Given the description of an element on the screen output the (x, y) to click on. 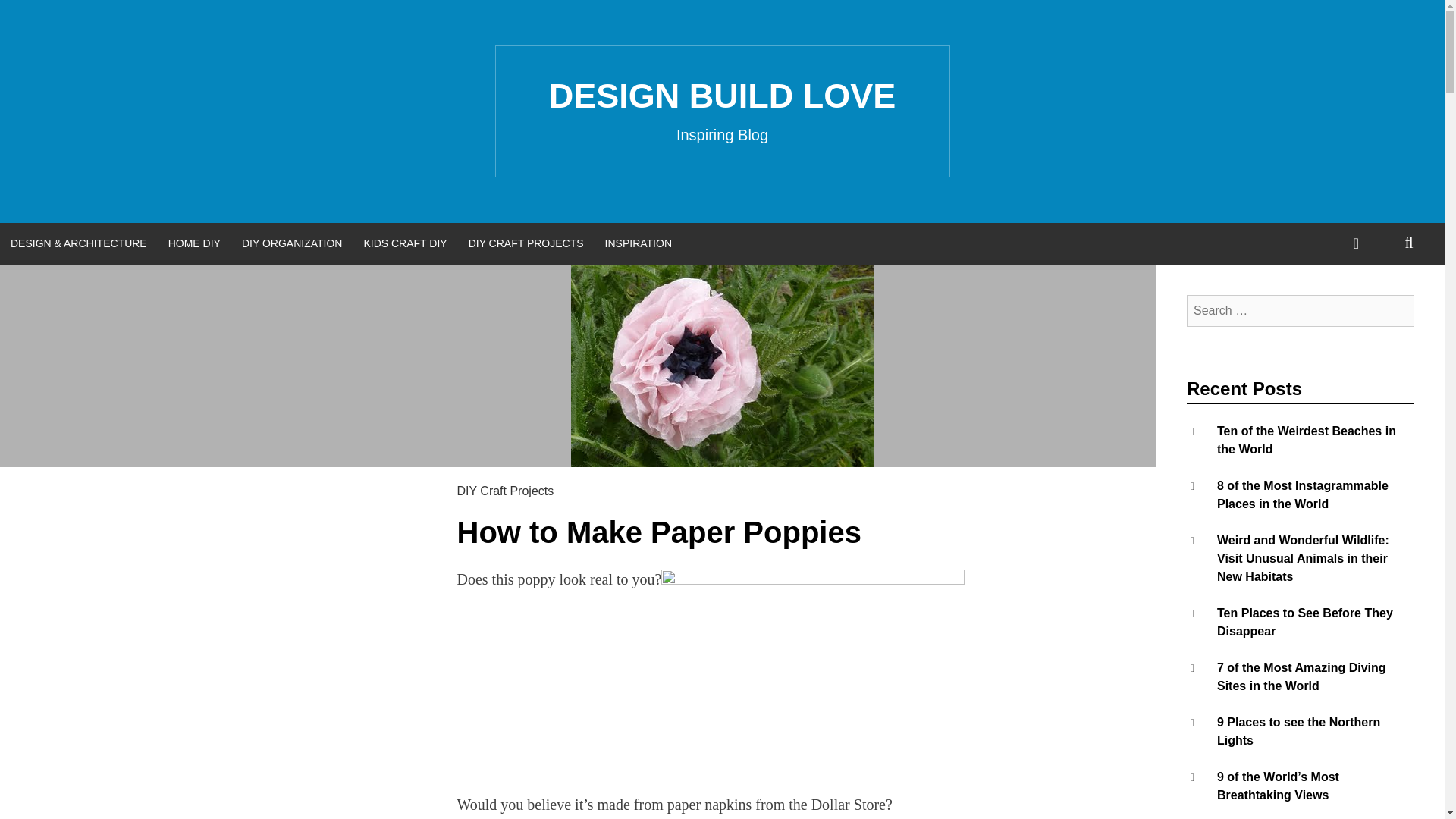
7 of the Most Amazing Diving Sites in the World (1301, 676)
INSPIRATION (638, 243)
DIY Craft Projects (505, 490)
Ten Places to See Before They Disappear (1305, 622)
DESIGN BUILD LOVE (722, 95)
DIY CRAFT PROJECTS (526, 243)
9 Places to see the Northern Lights (1298, 730)
SEARCH (1409, 242)
8 of the Most Instagrammable Places in the World (1303, 494)
